Given the description of an element on the screen output the (x, y) to click on. 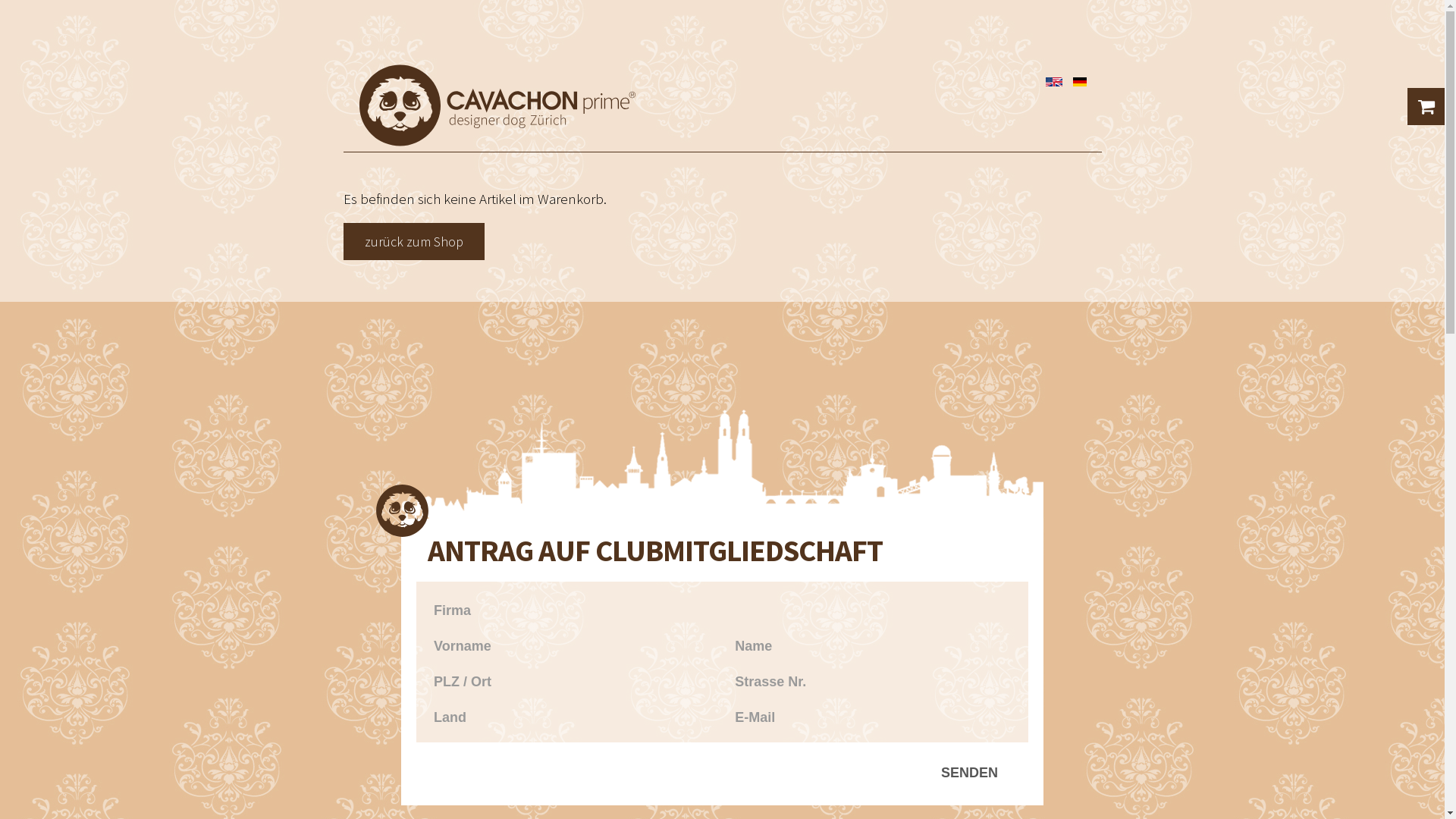
English (UK) Element type: hover (1052, 81)
Deutsch Element type: hover (1078, 81)
SENDEN Element type: text (969, 773)
